Given the description of an element on the screen output the (x, y) to click on. 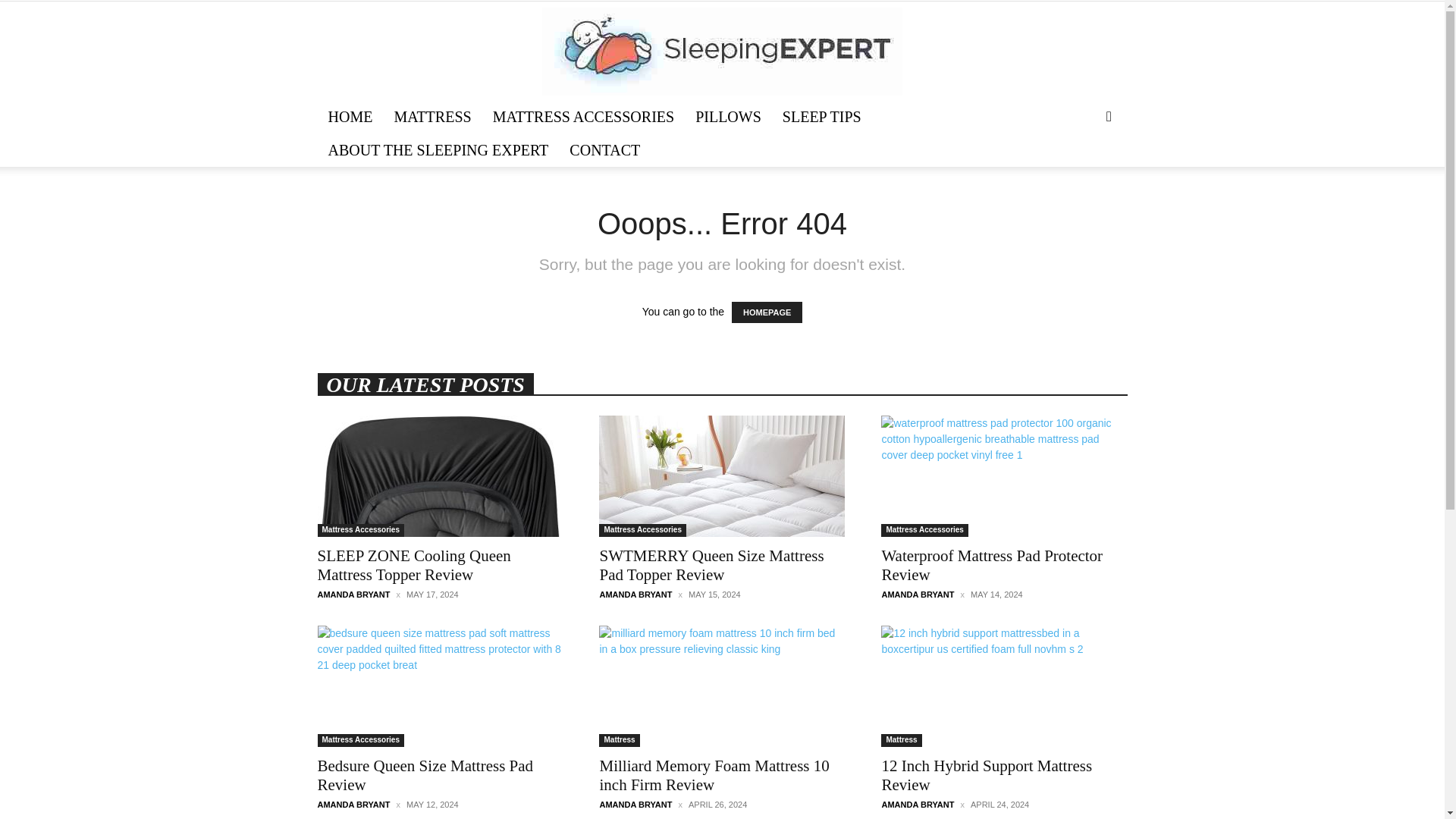
SWTMERRY Queen Size Mattress Pad Topper Review (711, 565)
Mattress Accessories (360, 530)
AMANDA BRYANT (353, 593)
A Sleep Expert Offers Tips To A Better Nights Rest (721, 51)
SWTMERRY Queen Size Mattress Pad Topper Review (711, 565)
ABOUT THE SLEEPING EXPERT (438, 150)
MATTRESS (431, 116)
AMANDA BRYANT (634, 593)
Search (1085, 175)
MATTRESS ACCESSORIES (583, 116)
PILLOWS (727, 116)
HOMEPAGE (767, 312)
SWTMERRY Queen Size Mattress Pad Topper Review (721, 476)
Mattress Accessories (641, 530)
Waterproof Mattress Pad Protector Review (1003, 476)
